Given the description of an element on the screen output the (x, y) to click on. 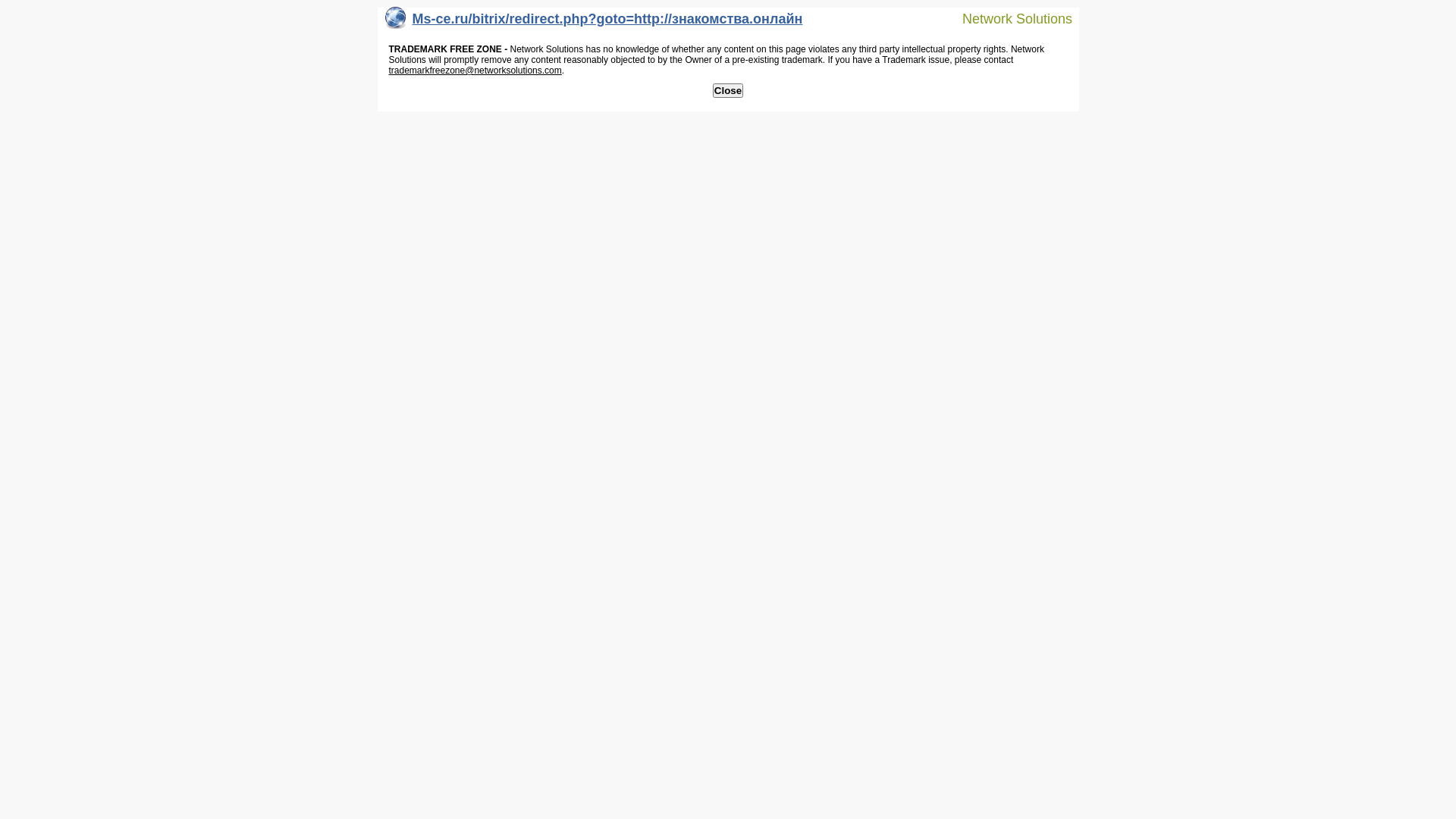
trademarkfreezone@networksolutions.com Element type: text (474, 70)
Close Element type: text (727, 90)
Network Solutions Element type: text (1007, 17)
